Given the description of an element on the screen output the (x, y) to click on. 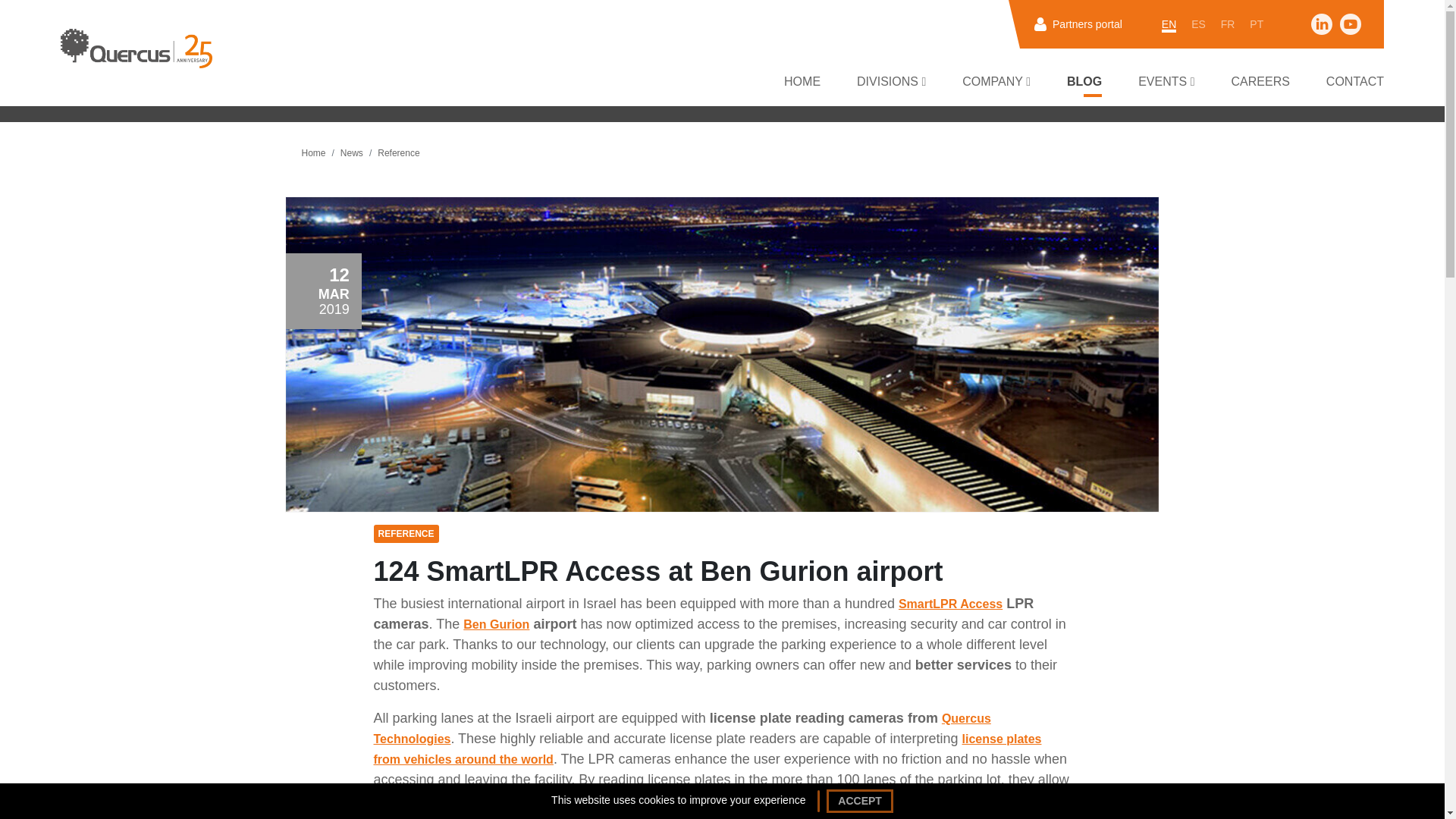
Home (313, 153)
inicio (136, 48)
PT (1256, 24)
CAREERS (1260, 81)
REFERENCE (405, 532)
COMPANY (996, 81)
FR (1227, 24)
ES (1198, 24)
CONTACT (1355, 81)
BLOG (1084, 81)
